Given the description of an element on the screen output the (x, y) to click on. 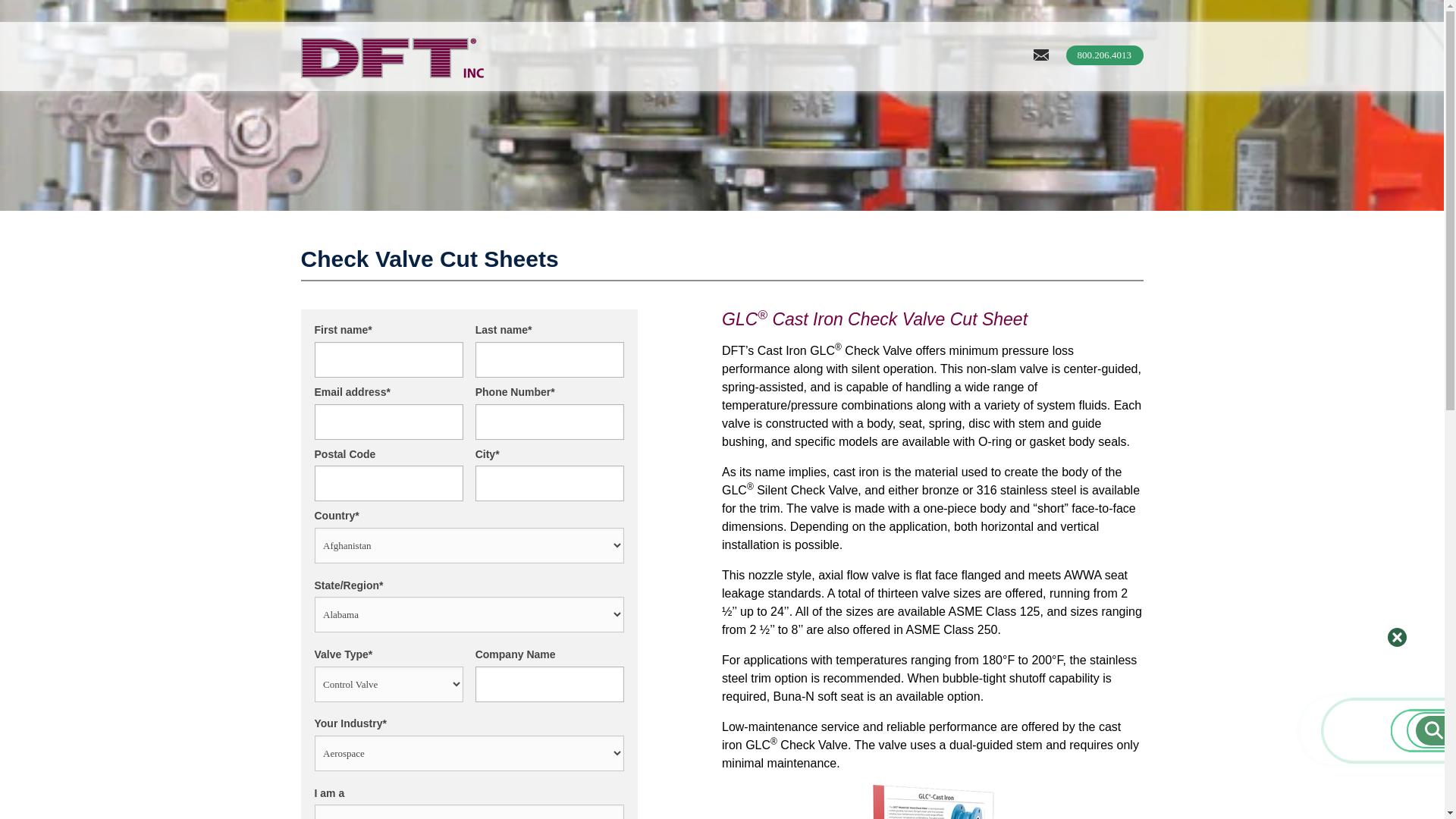
Close (1396, 637)
800.206.4013 (1103, 54)
